Given the description of an element on the screen output the (x, y) to click on. 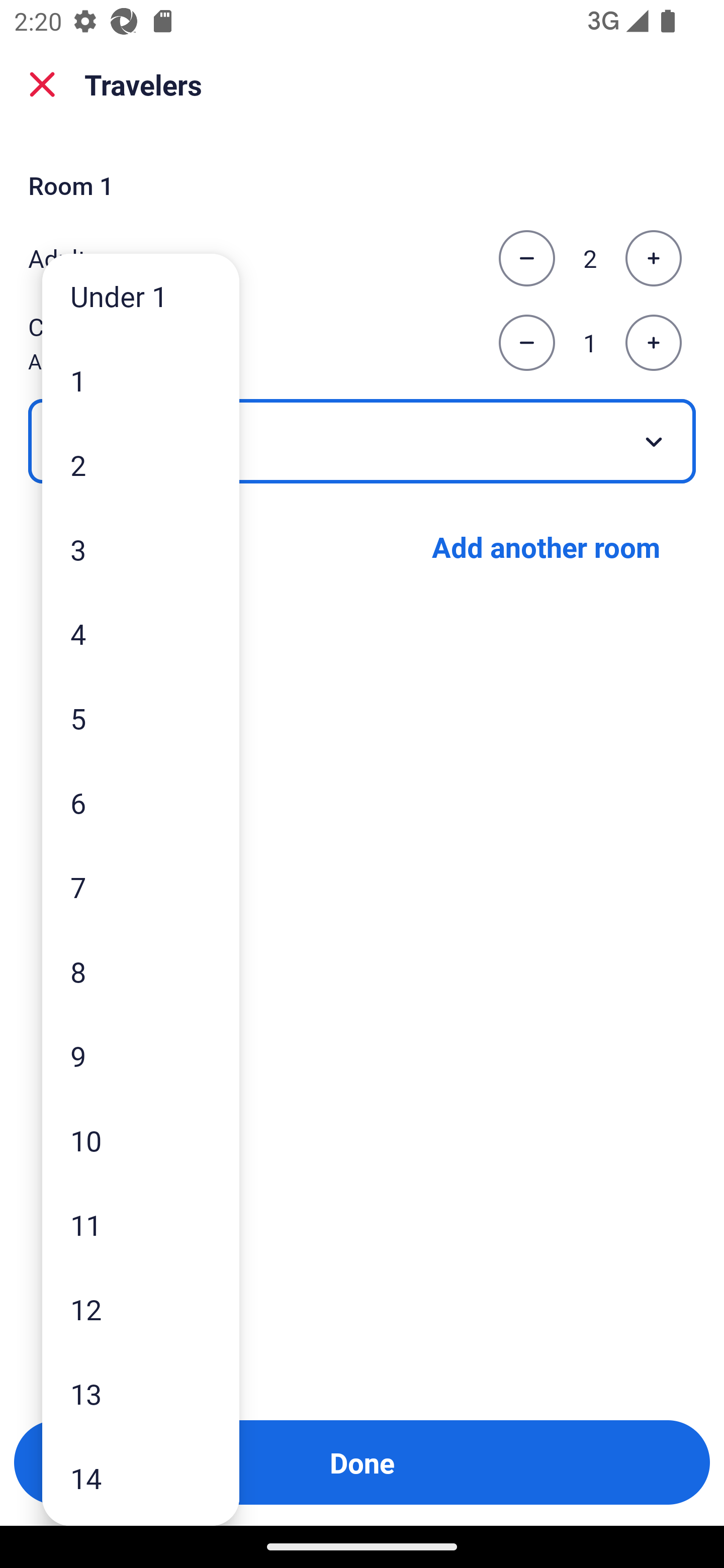
Under 1 (140, 296)
1 (140, 380)
2 (140, 464)
3 (140, 548)
4 (140, 633)
5 (140, 717)
6 (140, 802)
7 (140, 887)
8 (140, 970)
9 (140, 1054)
10 (140, 1139)
11 (140, 1224)
12 (140, 1308)
13 (140, 1393)
14 (140, 1478)
